Given the description of an element on the screen output the (x, y) to click on. 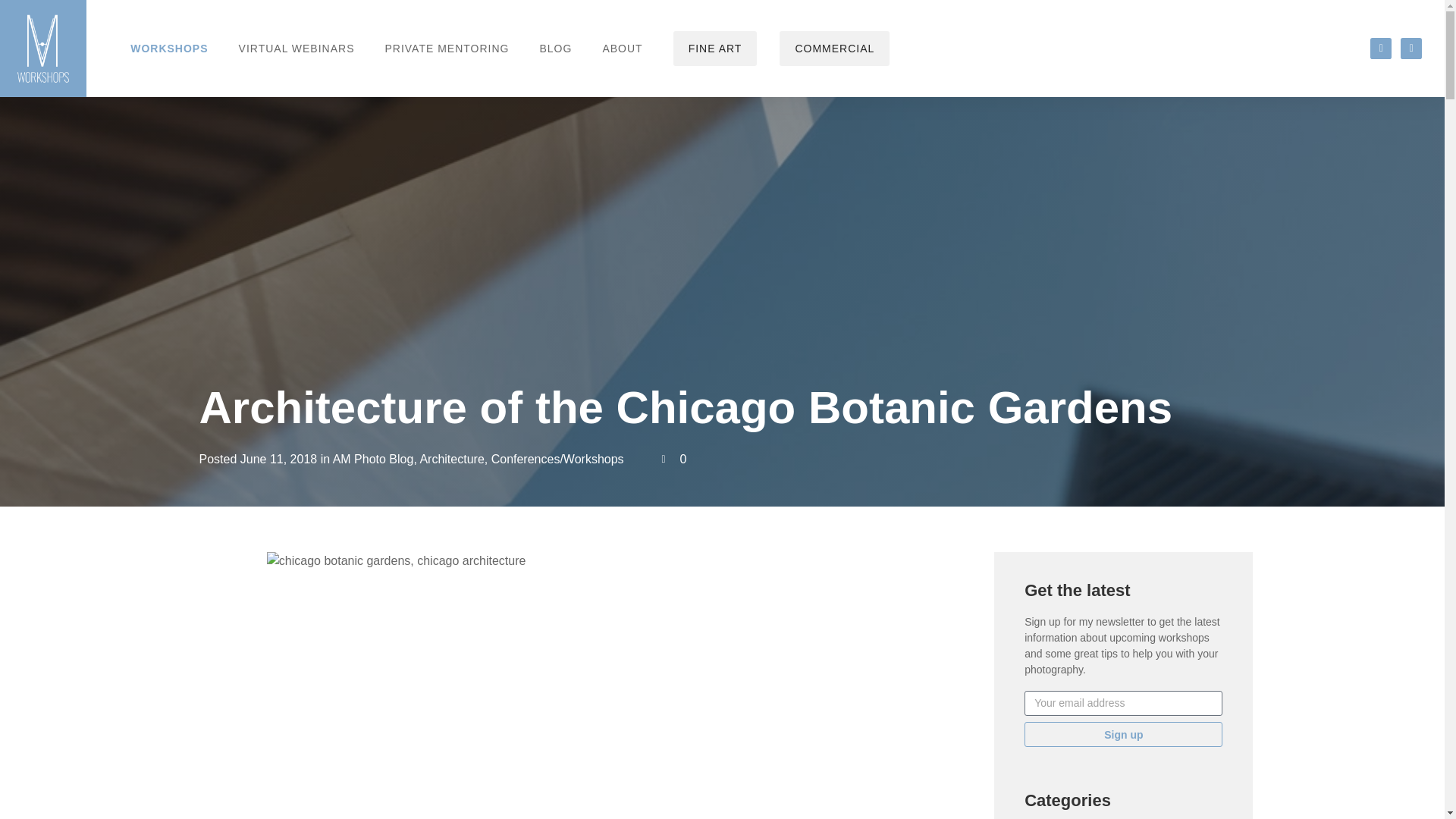
COMMERCIAL (833, 48)
WORKSHOPS (168, 48)
ABOUT (622, 48)
FINE ART (714, 48)
PRIVATE MENTORING (446, 48)
VIRTUAL WEBINARS (296, 48)
BLOG (555, 48)
